Given the description of an element on the screen output the (x, y) to click on. 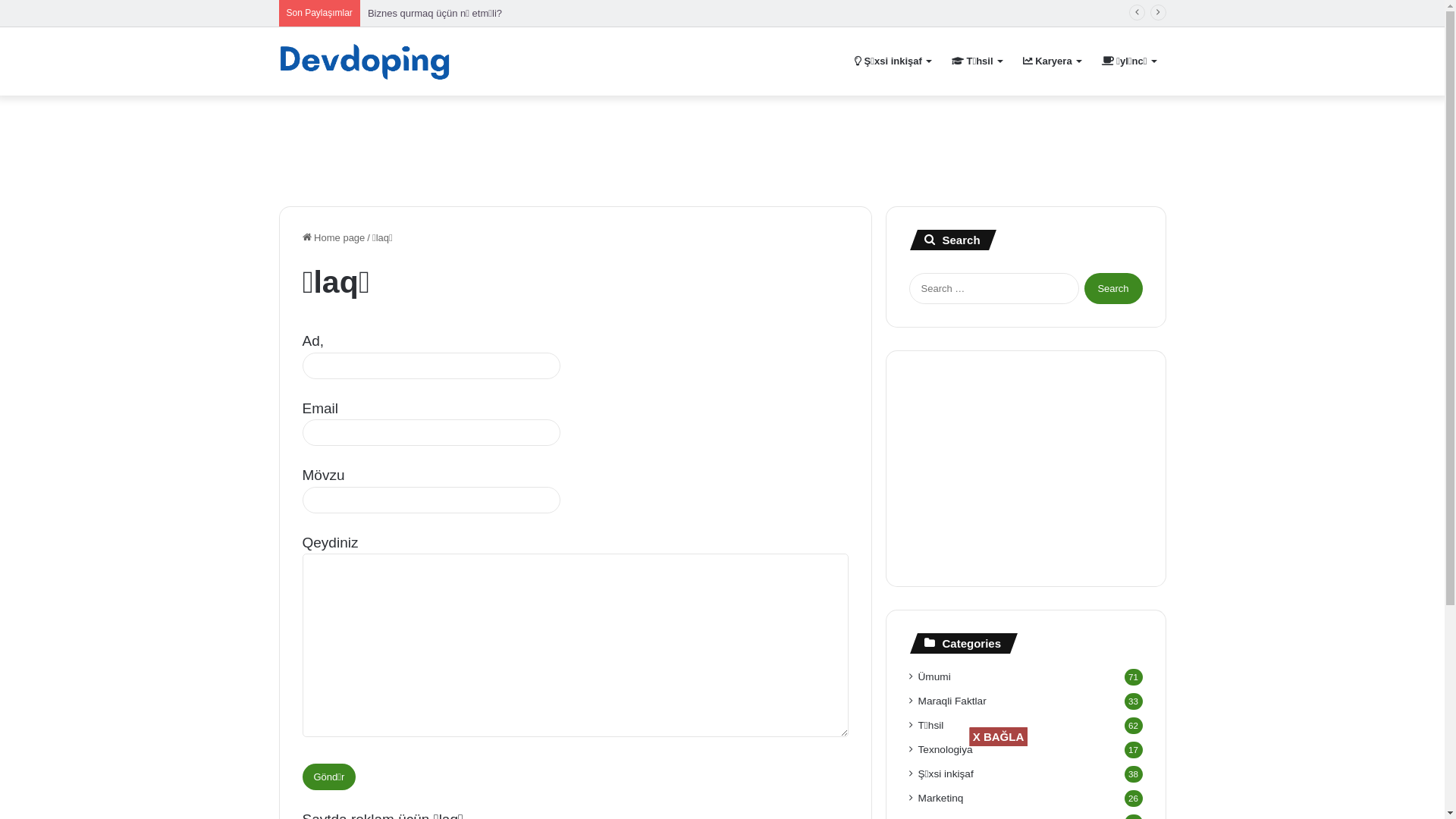
Advertisement Element type: hover (1025, 468)
Marketinq Element type: text (940, 798)
Maraqli Faktlar Element type: text (952, 701)
Karyera Element type: text (1051, 61)
Advertisement Element type: hover (751, 780)
Texnologiya Element type: text (945, 749)
Home page Element type: text (332, 237)
Search Element type: text (1113, 288)
Advertisement Element type: hover (721, 144)
